Given the description of an element on the screen output the (x, y) to click on. 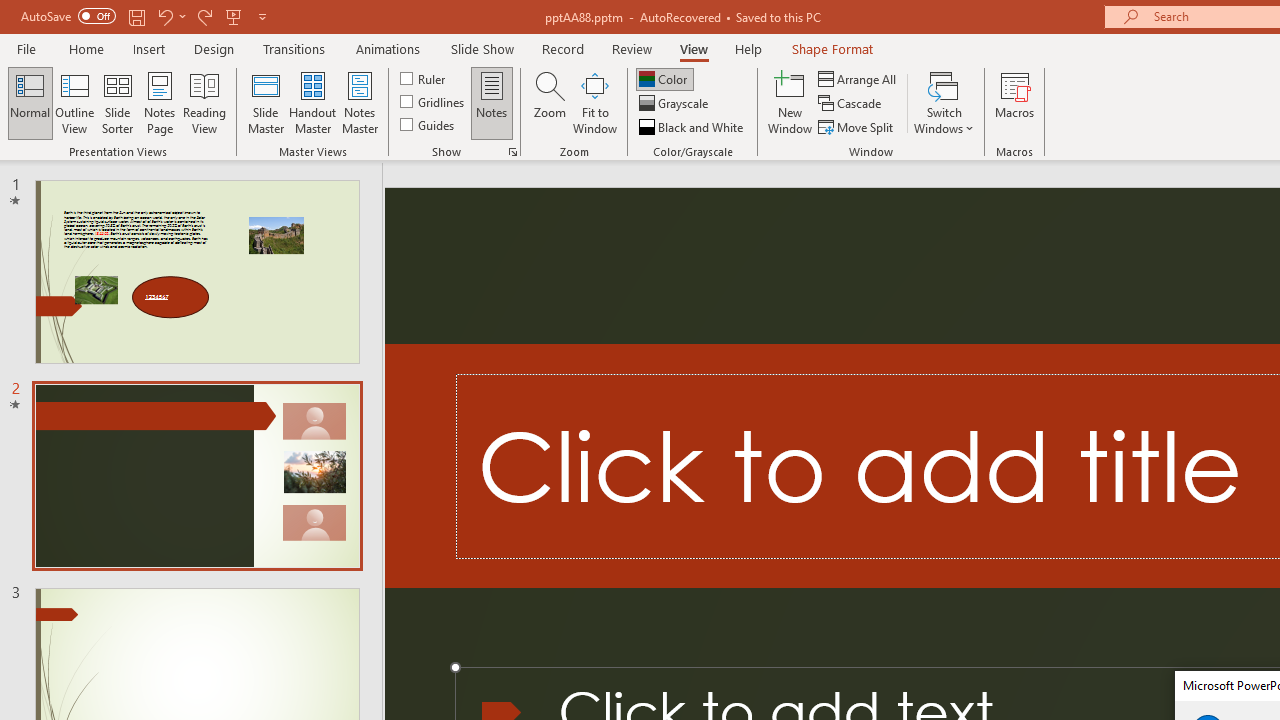
Notes (492, 102)
Slide Master (265, 102)
Handout Master (312, 102)
New Window (790, 102)
Macros (1014, 102)
Cascade (851, 103)
